Given the description of an element on the screen output the (x, y) to click on. 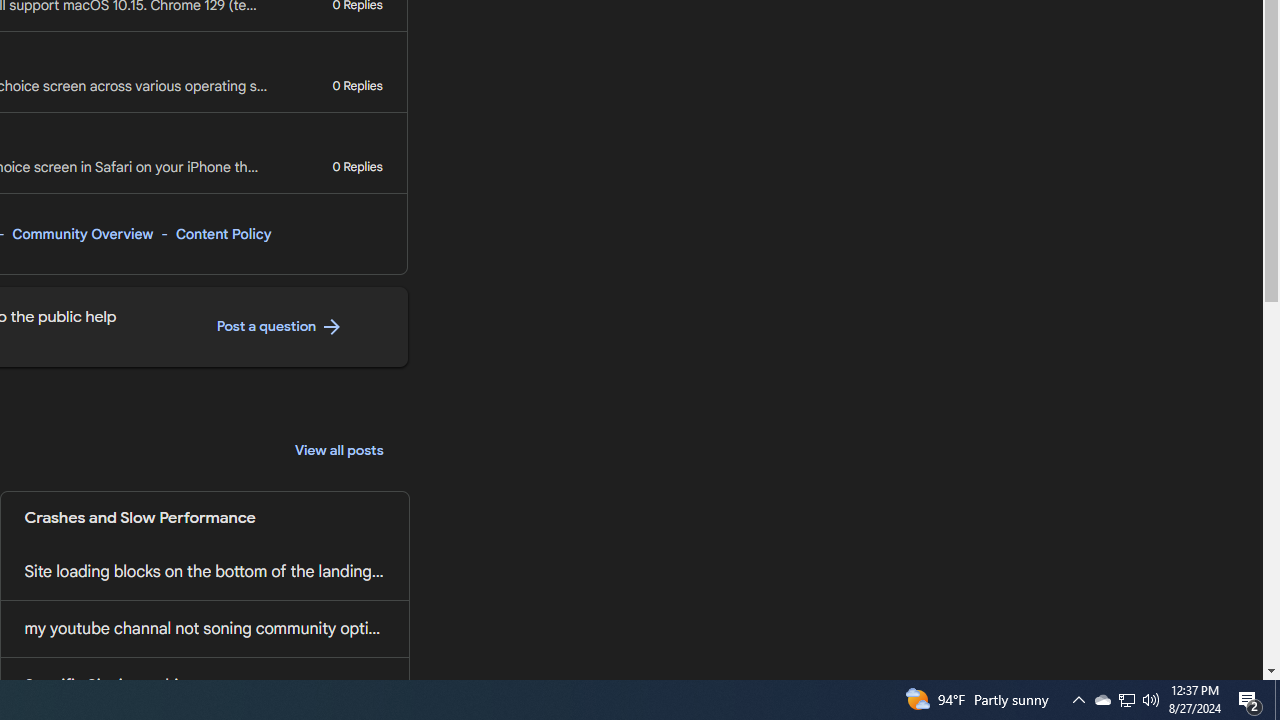
View all posts (339, 450)
Content Policy (223, 233)
Post a question  (280, 327)
Community Overview (82, 233)
